Given the description of an element on the screen output the (x, y) to click on. 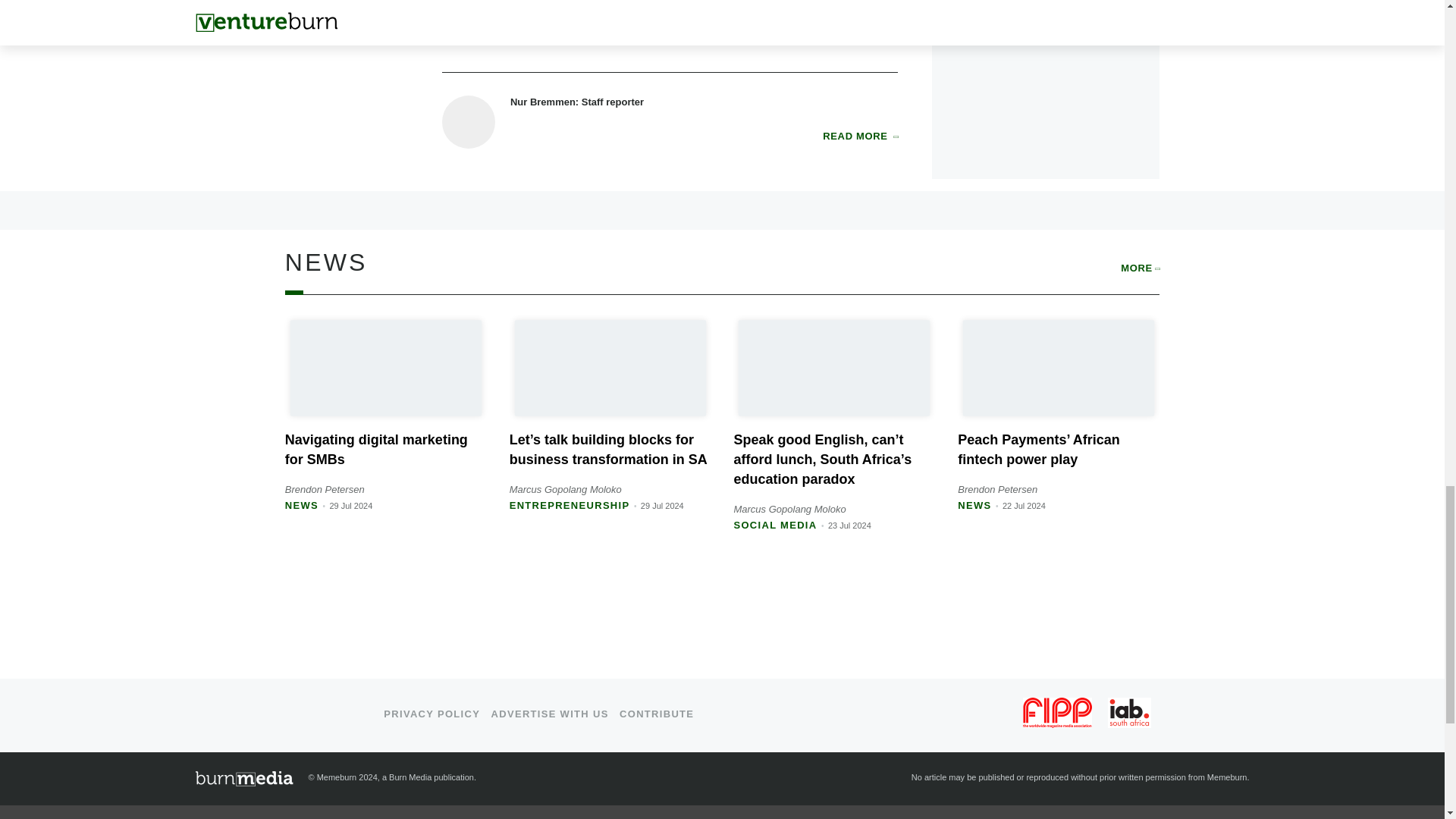
Marcus Gopolang Moloko (789, 509)
Brendon Petersen (325, 489)
NEWS (301, 505)
MORE (1139, 268)
Navigating digital marketing for SMBs (376, 449)
ENTREPRENEURSHIP (569, 505)
Marcus Gopolang Moloko (565, 489)
29 Jul 2024 (662, 505)
READ MORE (860, 136)
29 Jul 2024 (350, 505)
